Given the description of an element on the screen output the (x, y) to click on. 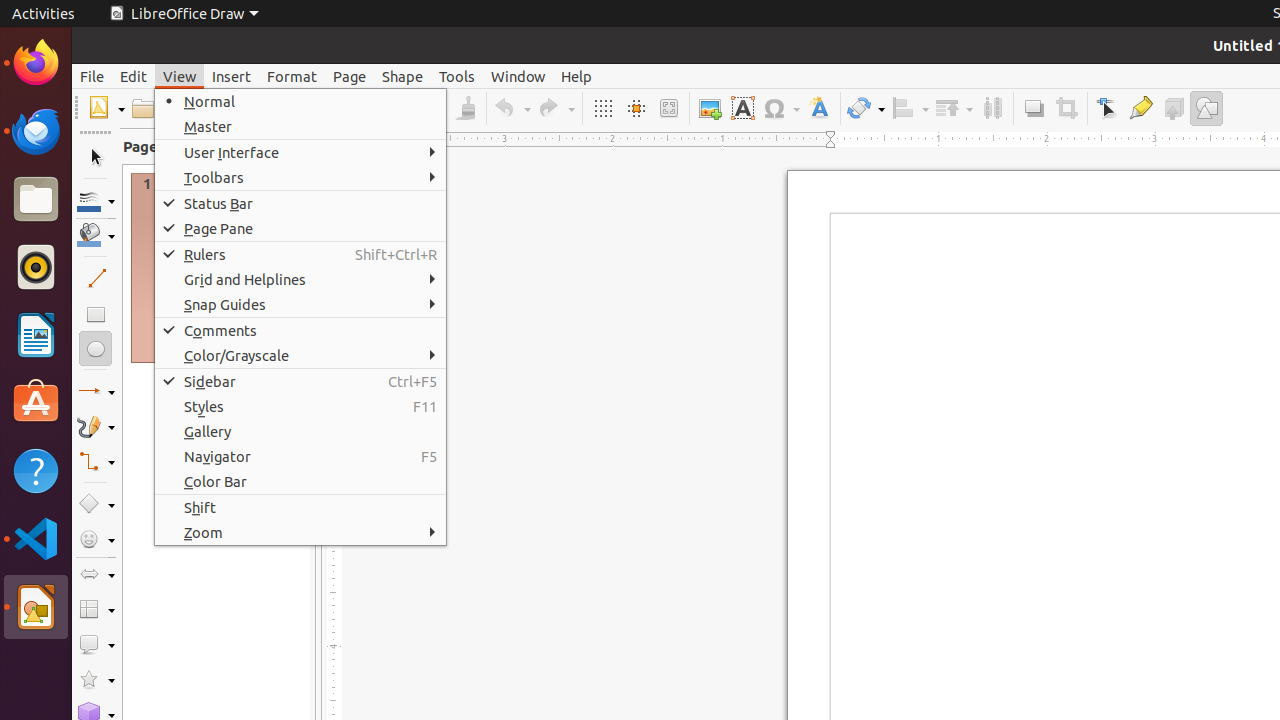
Line Color Element type: push-button (96, 200)
Color Bar Element type: check-menu-item (300, 481)
Redo Element type: push-button (556, 108)
Tools Element type: menu (457, 76)
Shape Element type: menu (402, 76)
